Given the description of an element on the screen output the (x, y) to click on. 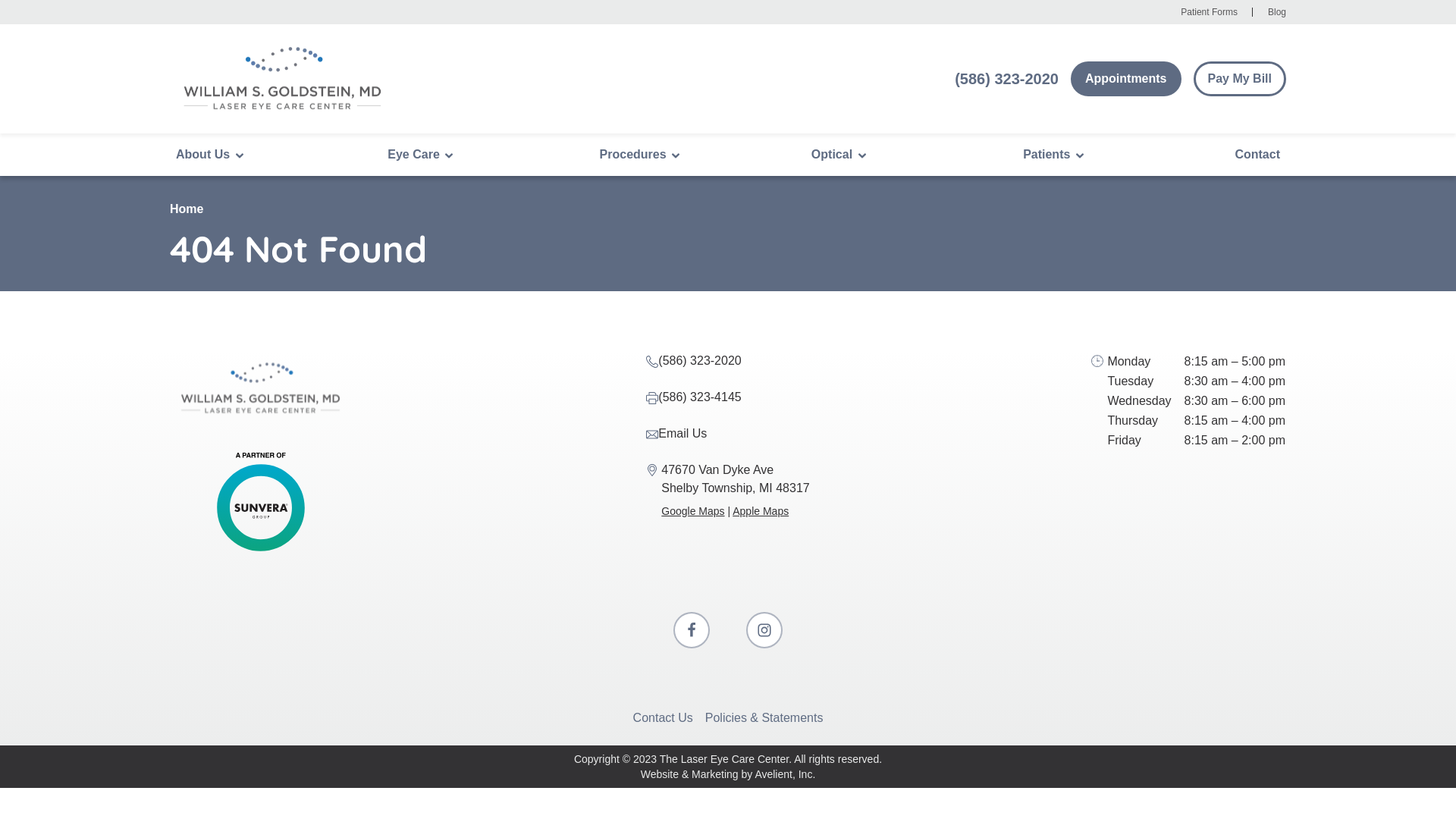
Procedures Element type: text (640, 154)
Eye Care Element type: text (421, 154)
Pay My Bill Element type: text (1239, 78)
About Us Element type: text (210, 154)
Email Us Element type: text (682, 432)
Patient Forms Element type: text (1208, 11)
Optical Element type: text (839, 154)
Policies & Statements Element type: text (764, 717)
Avelient, Inc Element type: text (783, 774)
(586) 323-2020 Element type: text (699, 360)
The Laser Eye Care Center Element type: text (723, 759)
Patients Element type: text (1054, 154)
Contact Element type: text (1257, 154)
Google Maps Element type: text (692, 511)
Blog Element type: text (1276, 11)
Home Element type: text (186, 208)
Appointments Element type: text (1125, 78)
Apple Maps Element type: text (760, 511)
Contact Us Element type: text (663, 717)
(586) 323-2020 Element type: text (1006, 78)
